Given the description of an element on the screen output the (x, y) to click on. 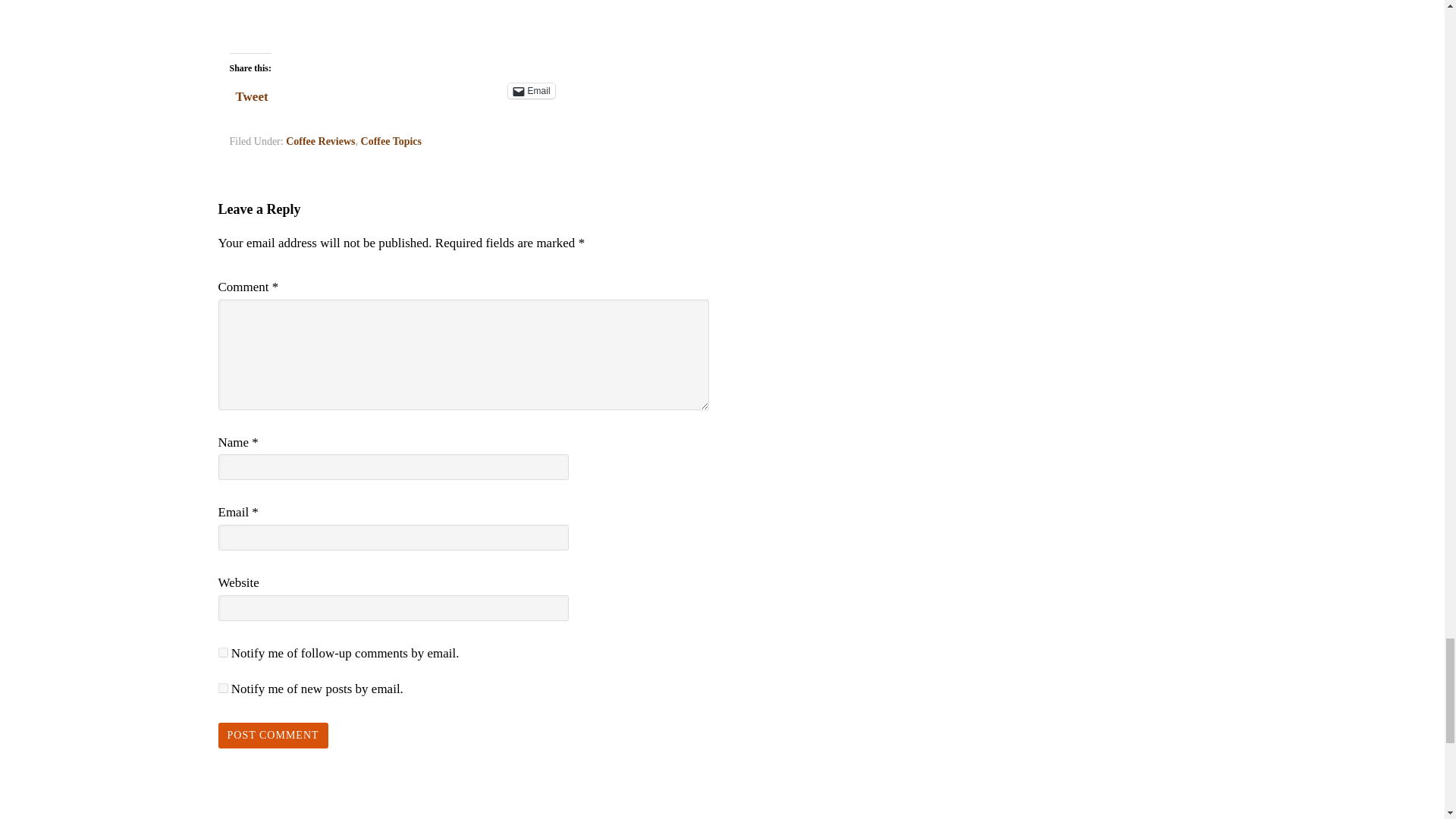
subscribe (223, 652)
Post Comment (273, 735)
Click to email a link to a friend (531, 90)
subscribe (223, 687)
